Given the description of an element on the screen output the (x, y) to click on. 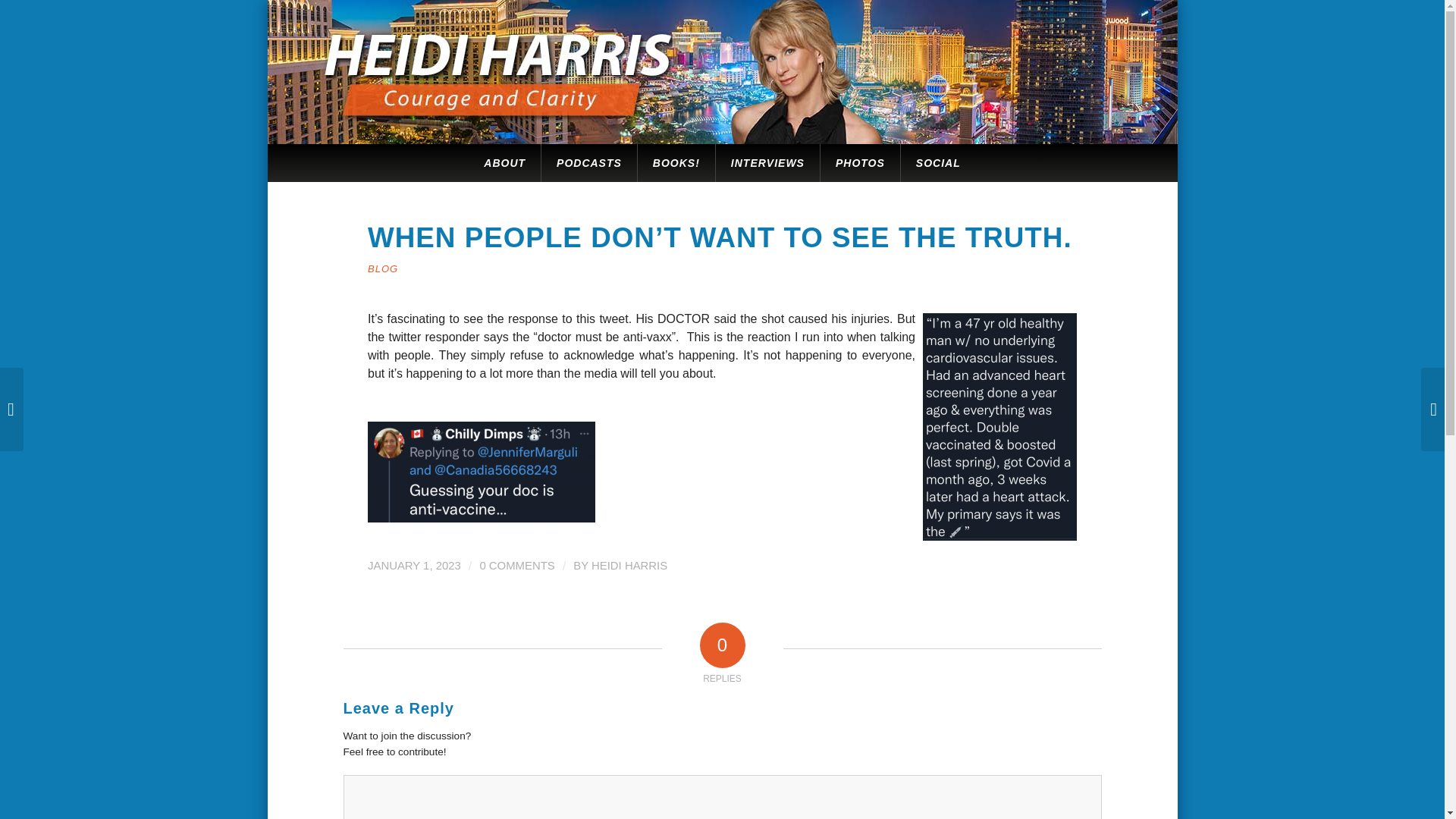
PODCASTS (588, 162)
INTERVIEWS (766, 162)
PHOTOS (859, 162)
Posts by Heidi Harris (628, 565)
0 COMMENTS (516, 565)
Who is Heidi Harris? (504, 162)
ABOUT (504, 162)
HEIDI HARRIS (628, 565)
BOOKS! (675, 162)
BLOG (382, 268)
